Given the description of an element on the screen output the (x, y) to click on. 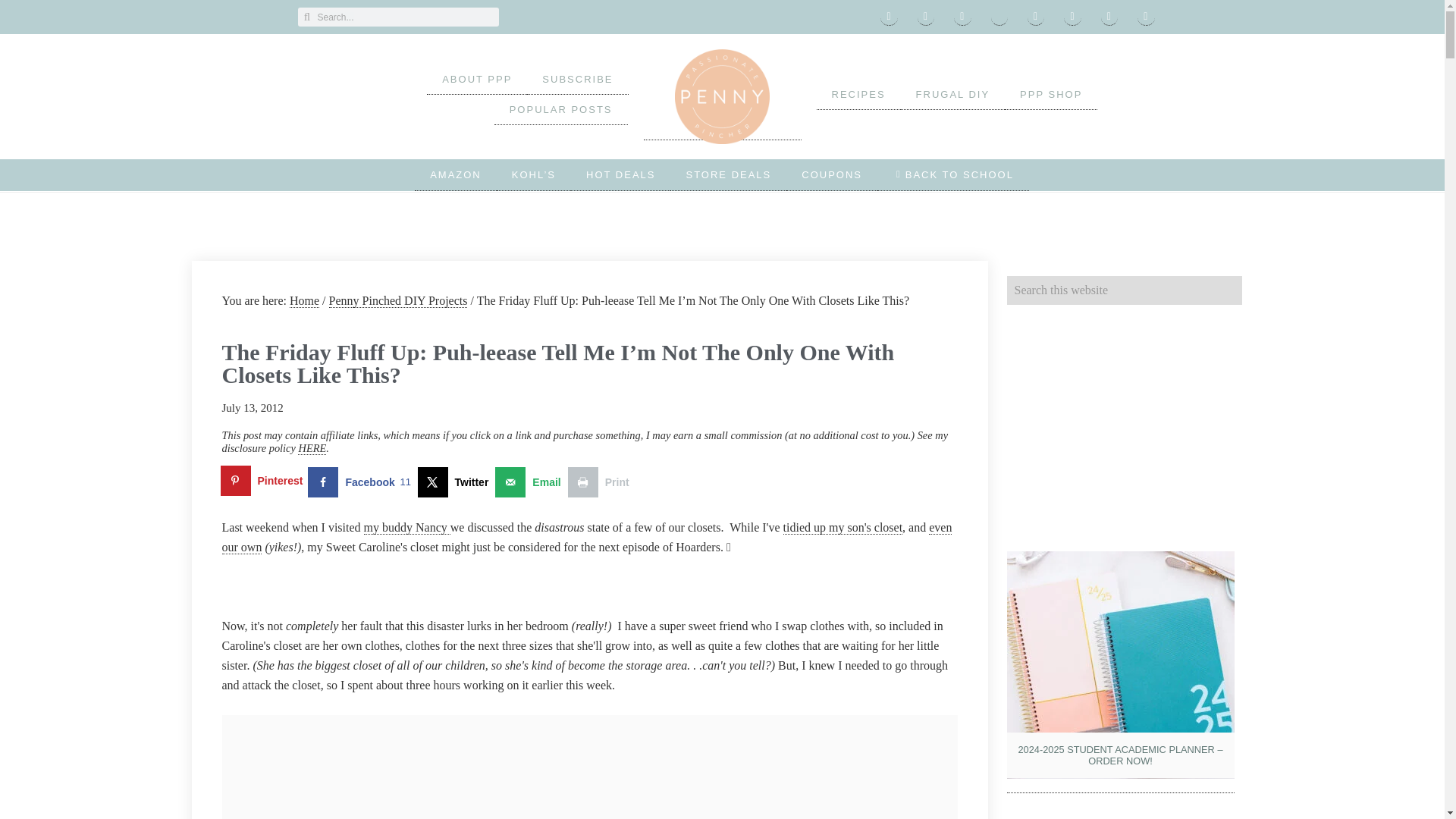
Share on X (455, 481)
PPP SHOP (1050, 94)
Save to Pinterest (264, 481)
RECIPES (857, 94)
Share on Facebook (361, 481)
Send over email (531, 481)
POPULAR POSTS (561, 110)
Print this webpage (601, 481)
ABOUT PPP (476, 79)
SUBSCRIBE (577, 79)
AMAZON (455, 174)
FRUGAL DIY (953, 94)
